Given the description of an element on the screen output the (x, y) to click on. 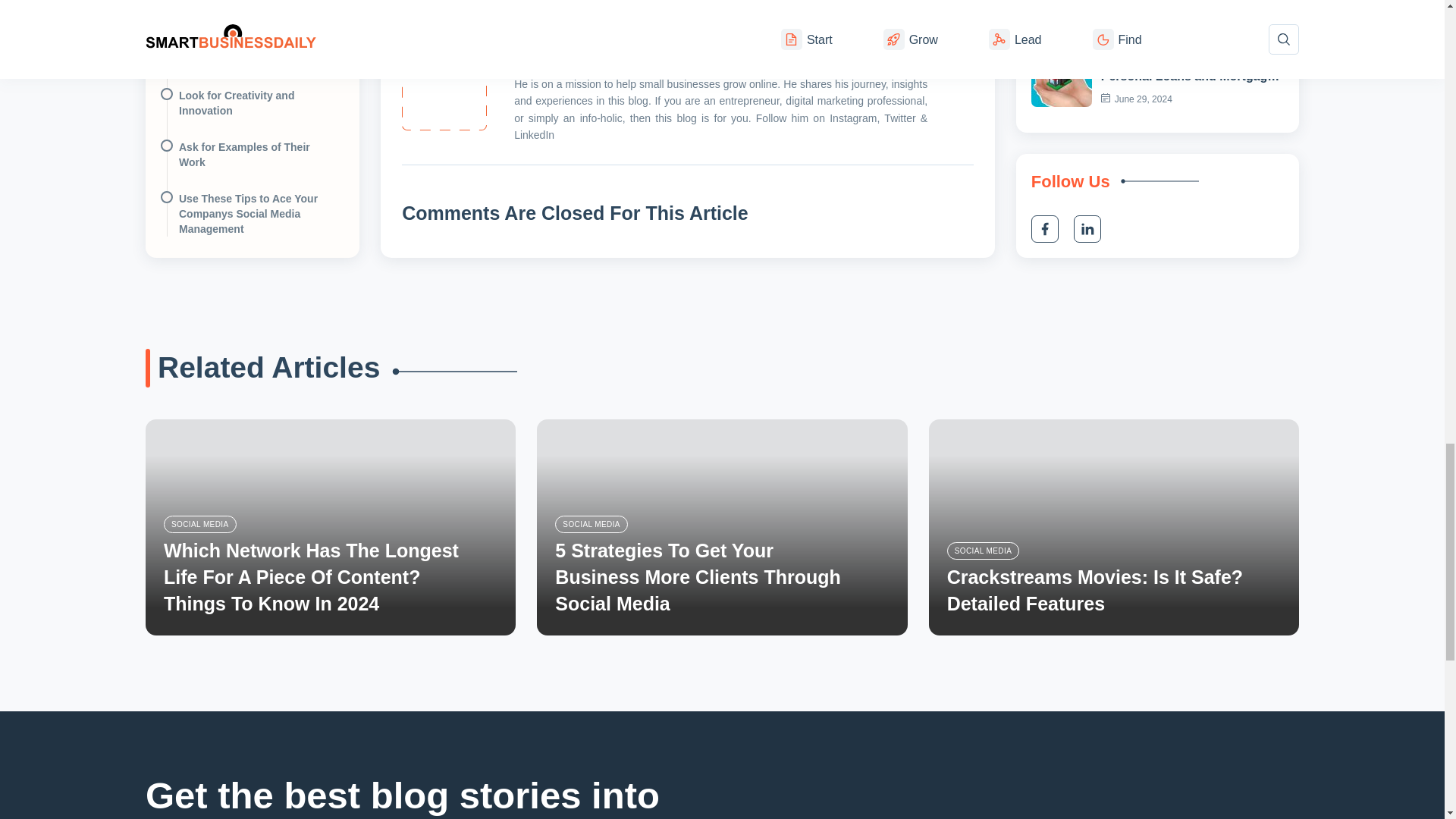
Social Media (591, 524)
Social Media (983, 551)
Social Media (199, 524)
